Given the description of an element on the screen output the (x, y) to click on. 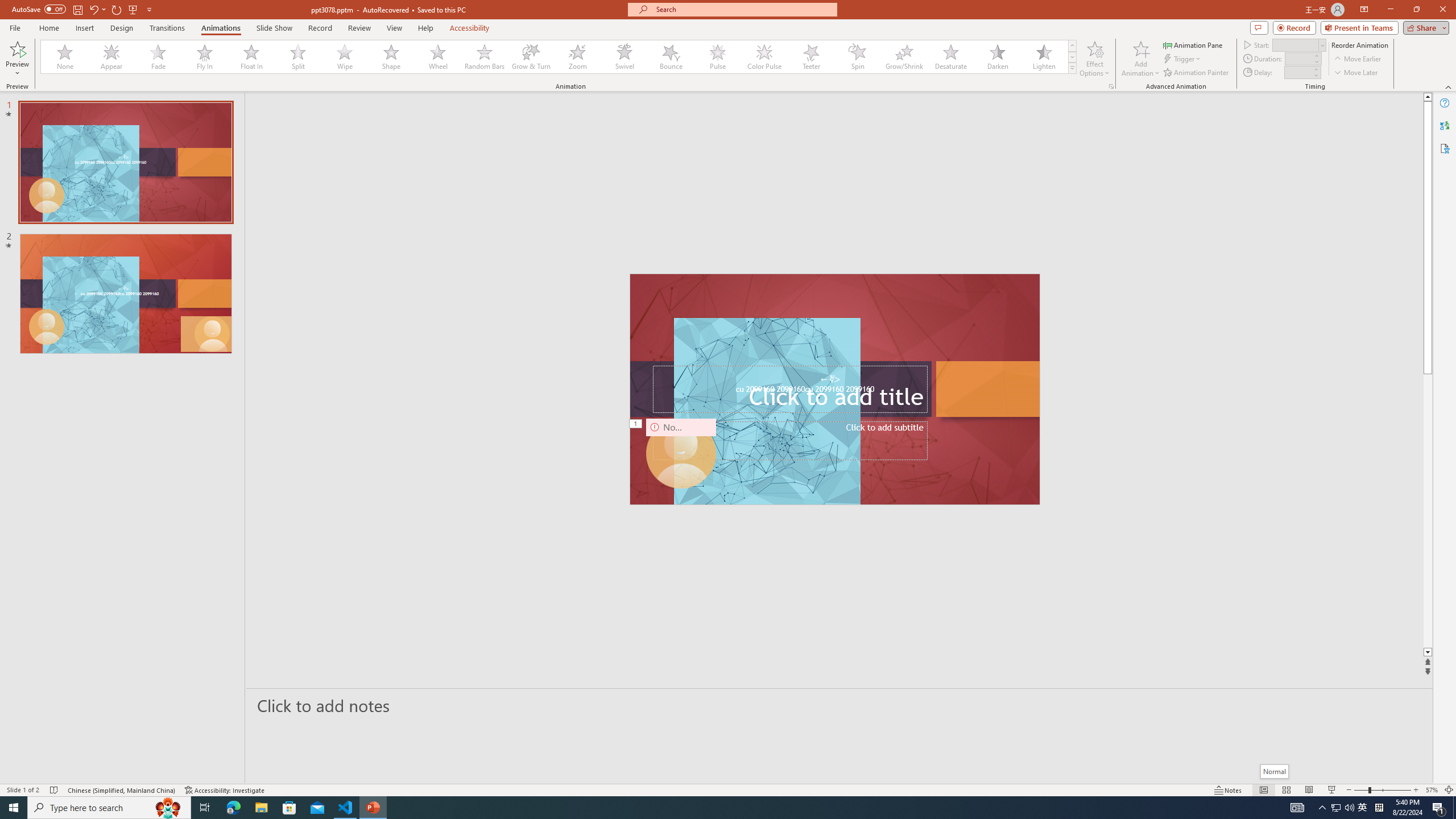
Wipe (344, 56)
AutomationID: AnimationGallery (558, 56)
Swivel (624, 56)
Fade (158, 56)
Appear (111, 56)
More Options... (1110, 85)
Shape (391, 56)
Wheel (437, 56)
Add Animation (1141, 58)
